Given the description of an element on the screen output the (x, y) to click on. 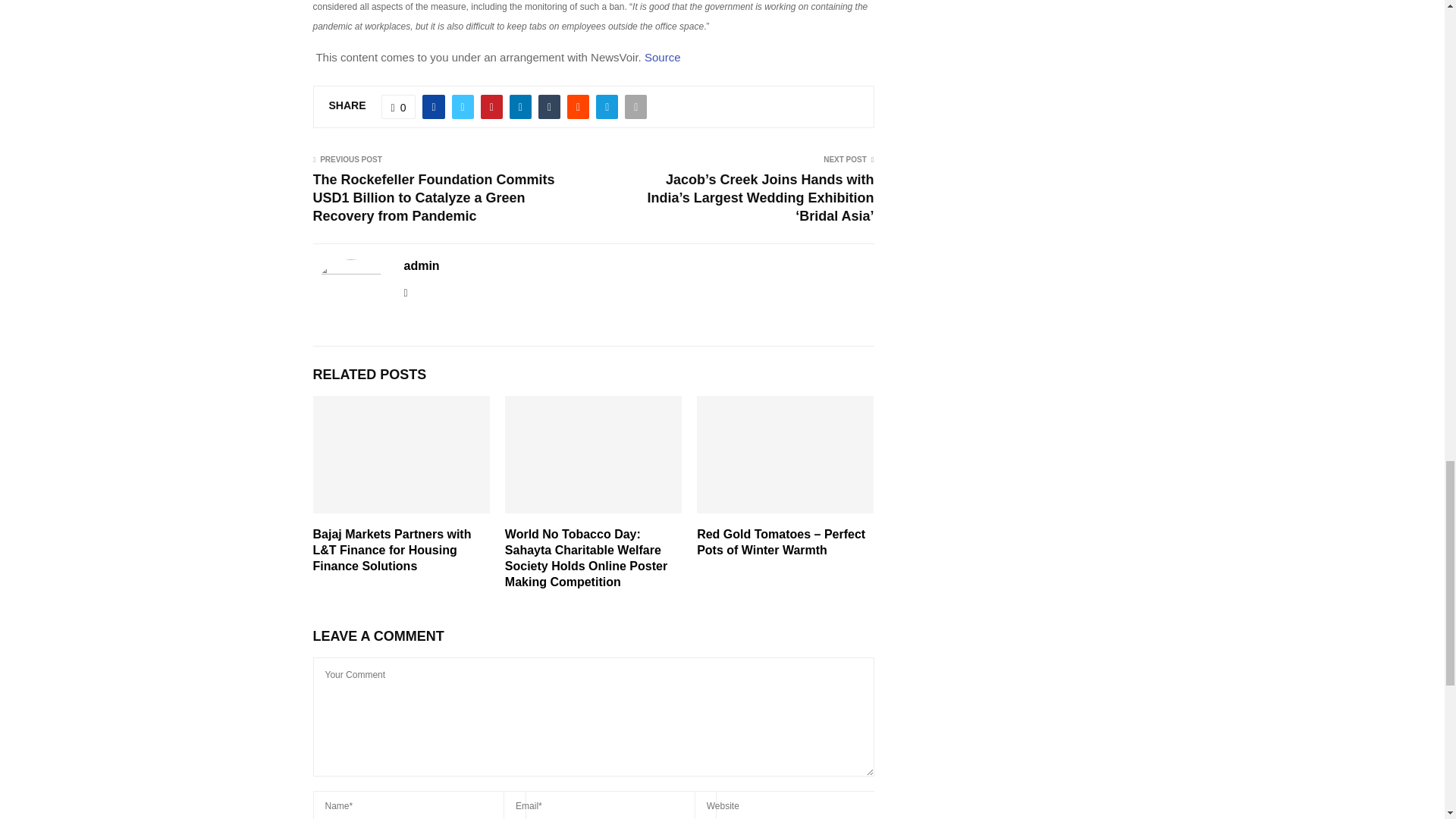
Like (398, 106)
